Given the description of an element on the screen output the (x, y) to click on. 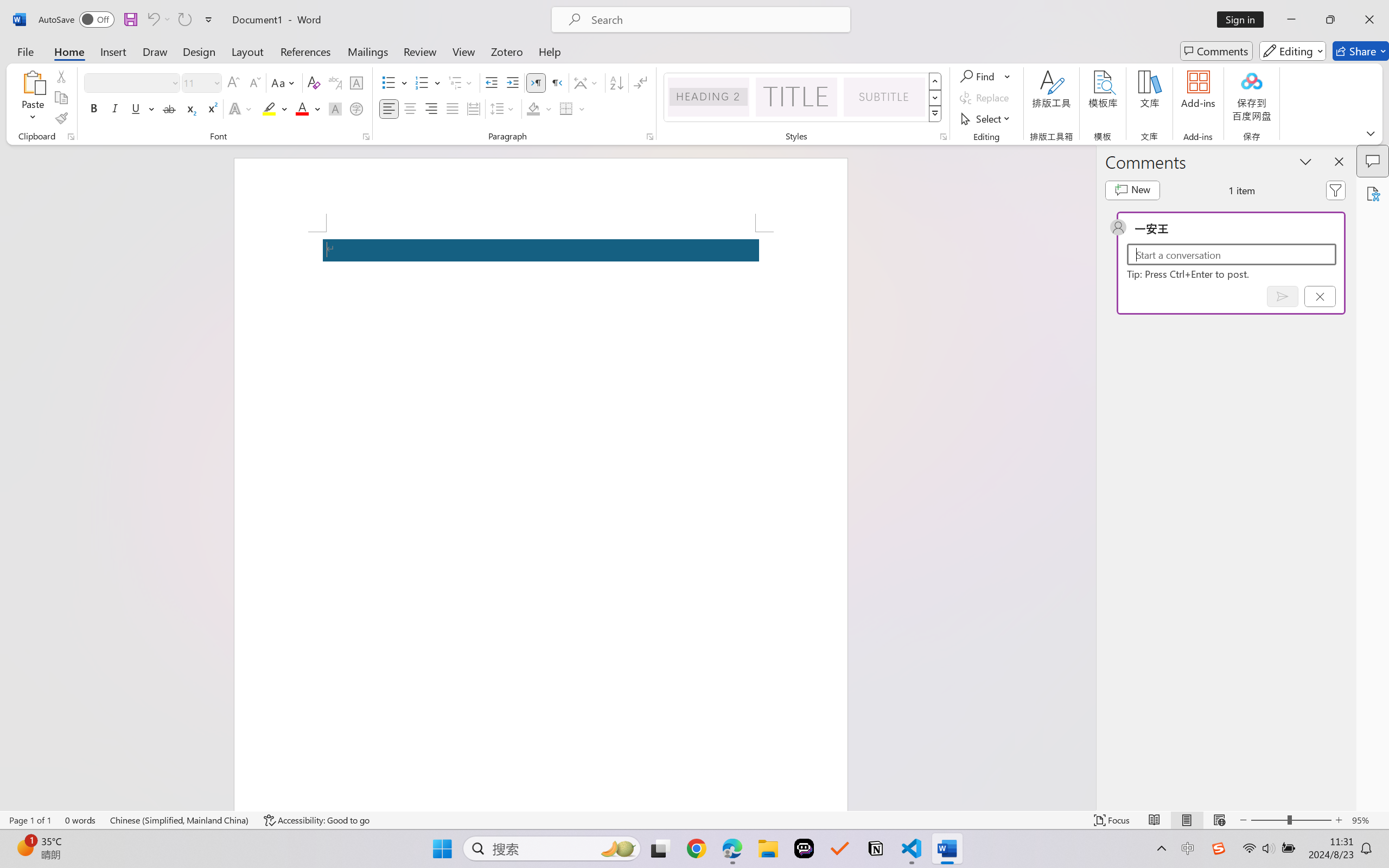
Left-to-Right (535, 82)
Editing (1292, 50)
